Given the description of an element on the screen output the (x, y) to click on. 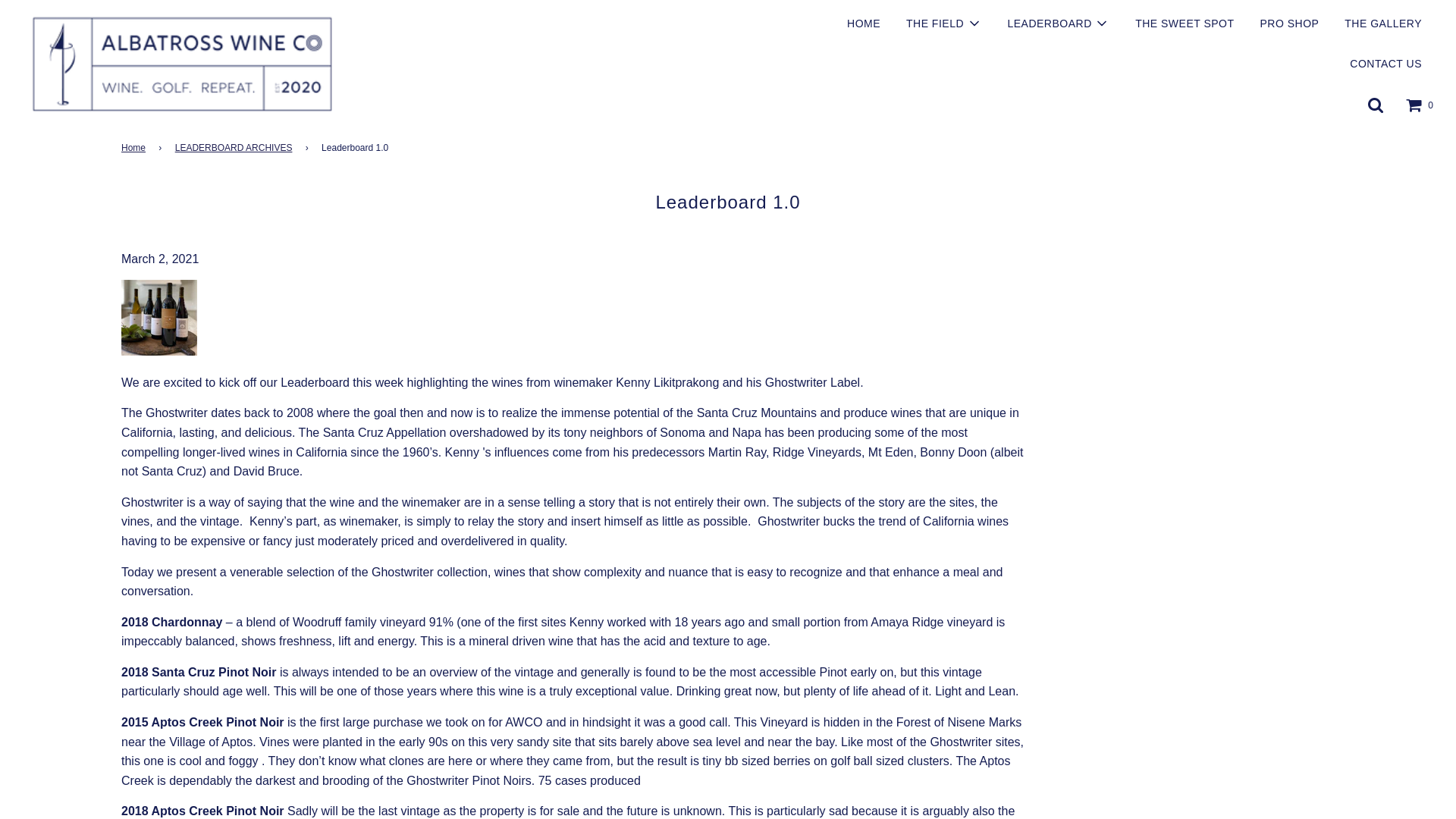
0 (1419, 104)
Home (135, 147)
THE SWEET SPOT (1184, 23)
THE GALLERY (1382, 23)
THE FIELD (943, 23)
CONTACT US (1385, 63)
LEADERBOARD (1058, 23)
HOME (863, 23)
PRO SHOP (1288, 23)
Back to the frontpage (135, 147)
